Given the description of an element on the screen output the (x, y) to click on. 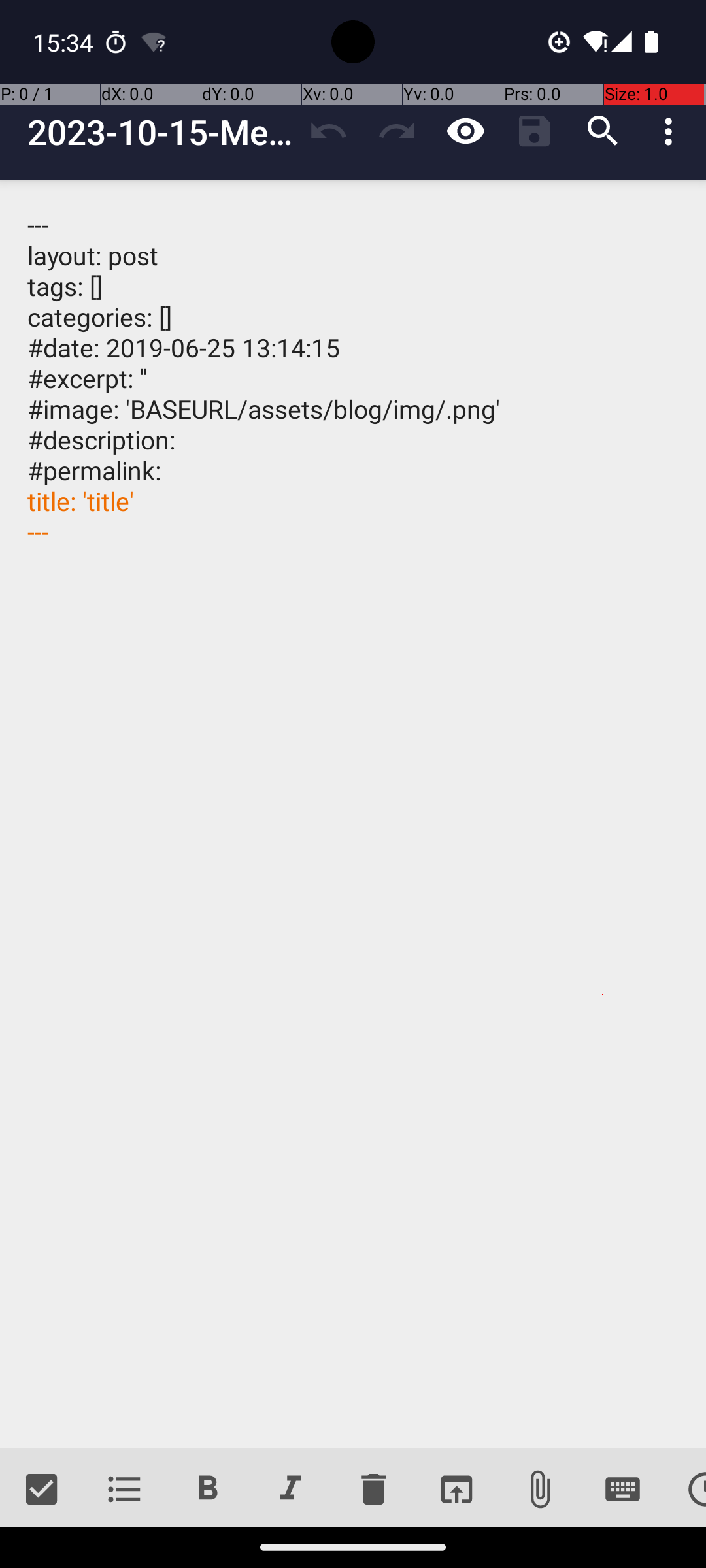
2023-10-15-Meeting_Notes Element type: android.widget.TextView (160, 131)
---
layout: post
tags: []
categories: []
#date: 2019-06-25 13:14:15
#excerpt: ''
#image: 'BASEURL/assets/blog/img/.png'
#description:
#permalink:
title: 'title'
---


 Element type: android.widget.EditText (353, 813)
